Given the description of an element on the screen output the (x, y) to click on. 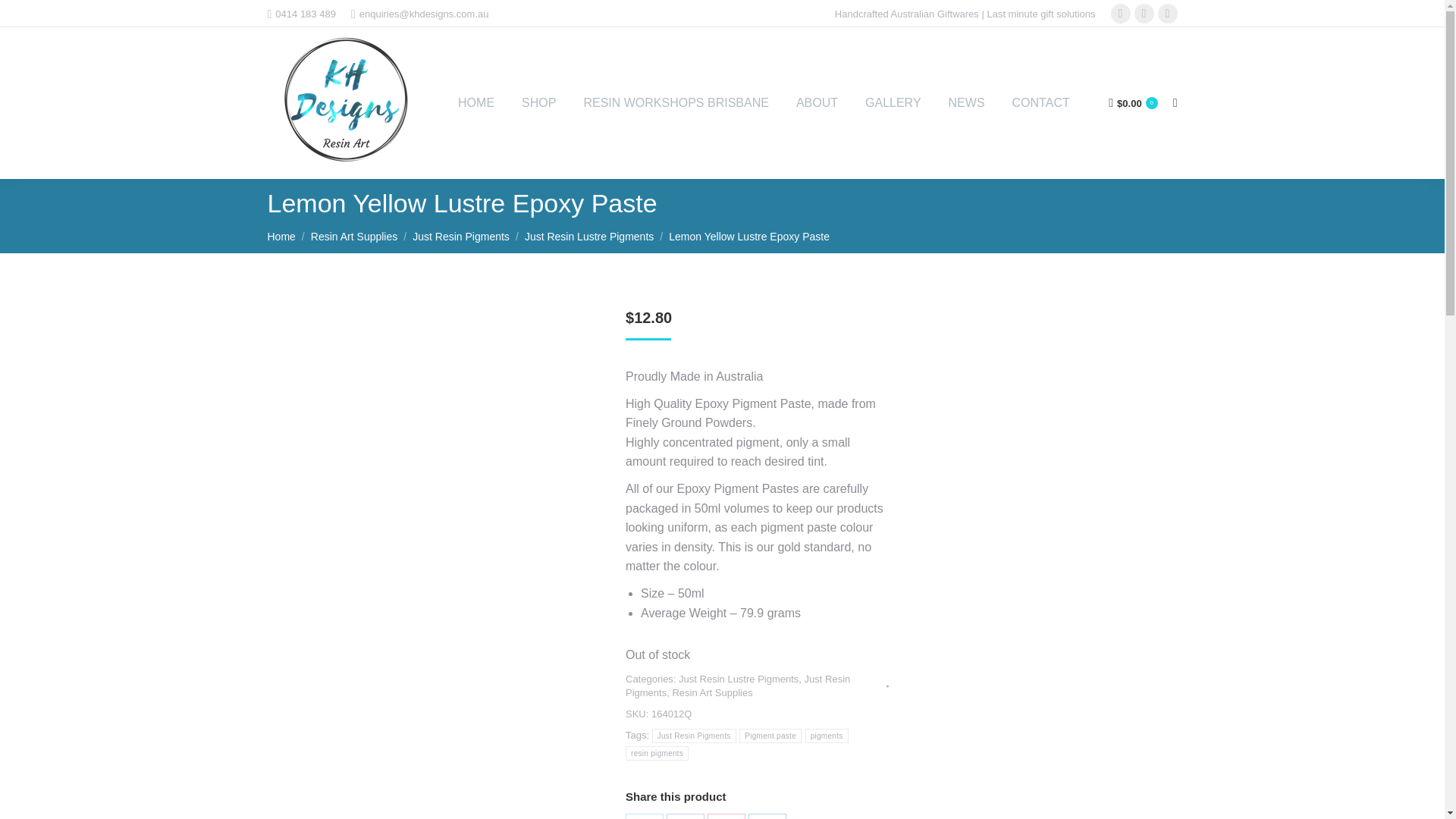
Facebook (685, 816)
Instagram page opens in new window (1167, 13)
Instagram page opens in new window (1167, 13)
Just Resin Pigments (460, 236)
Just Resin Lustre Pigments (588, 236)
Home (280, 236)
Resin Art Supplies (354, 236)
0414 183 489 (300, 12)
Go! (24, 16)
RESIN WORKSHOPS BRISBANE (675, 102)
